Given the description of an element on the screen output the (x, y) to click on. 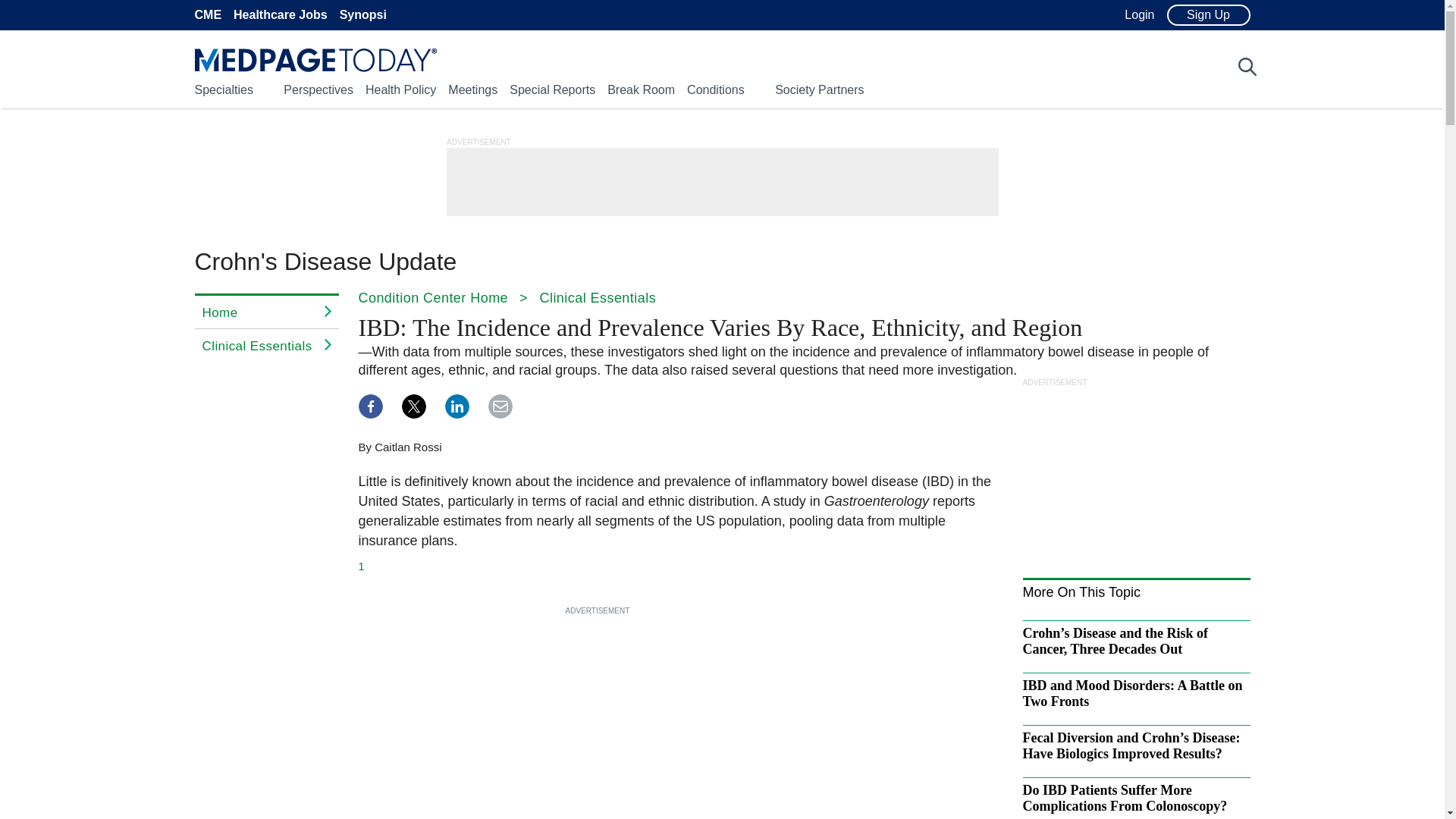
3rd party ad content (721, 182)
Healthcare Jobs (279, 15)
CME (207, 15)
Share on Facebook. Opens in a new tab or window (369, 405)
Synopsi (363, 15)
3rd party ad content (1135, 483)
Share on LinkedIn. Opens in a new tab or window (456, 405)
Share on X. Opens in a new tab or window (413, 405)
Specialties (222, 89)
